Given the description of an element on the screen output the (x, y) to click on. 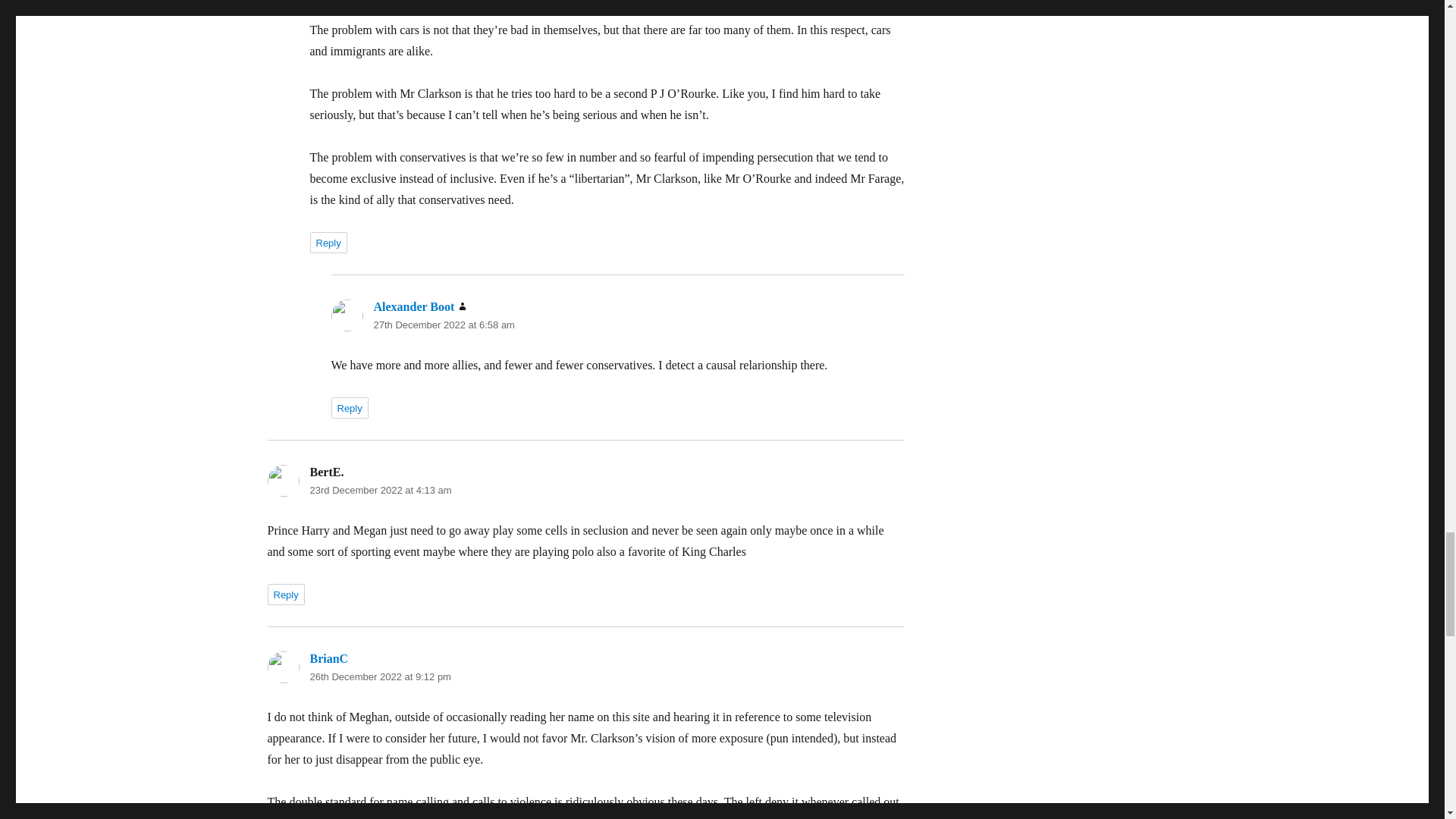
Alexander Boot (413, 306)
27th December 2022 at 6:58 am (442, 324)
Reply (327, 242)
